Given the description of an element on the screen output the (x, y) to click on. 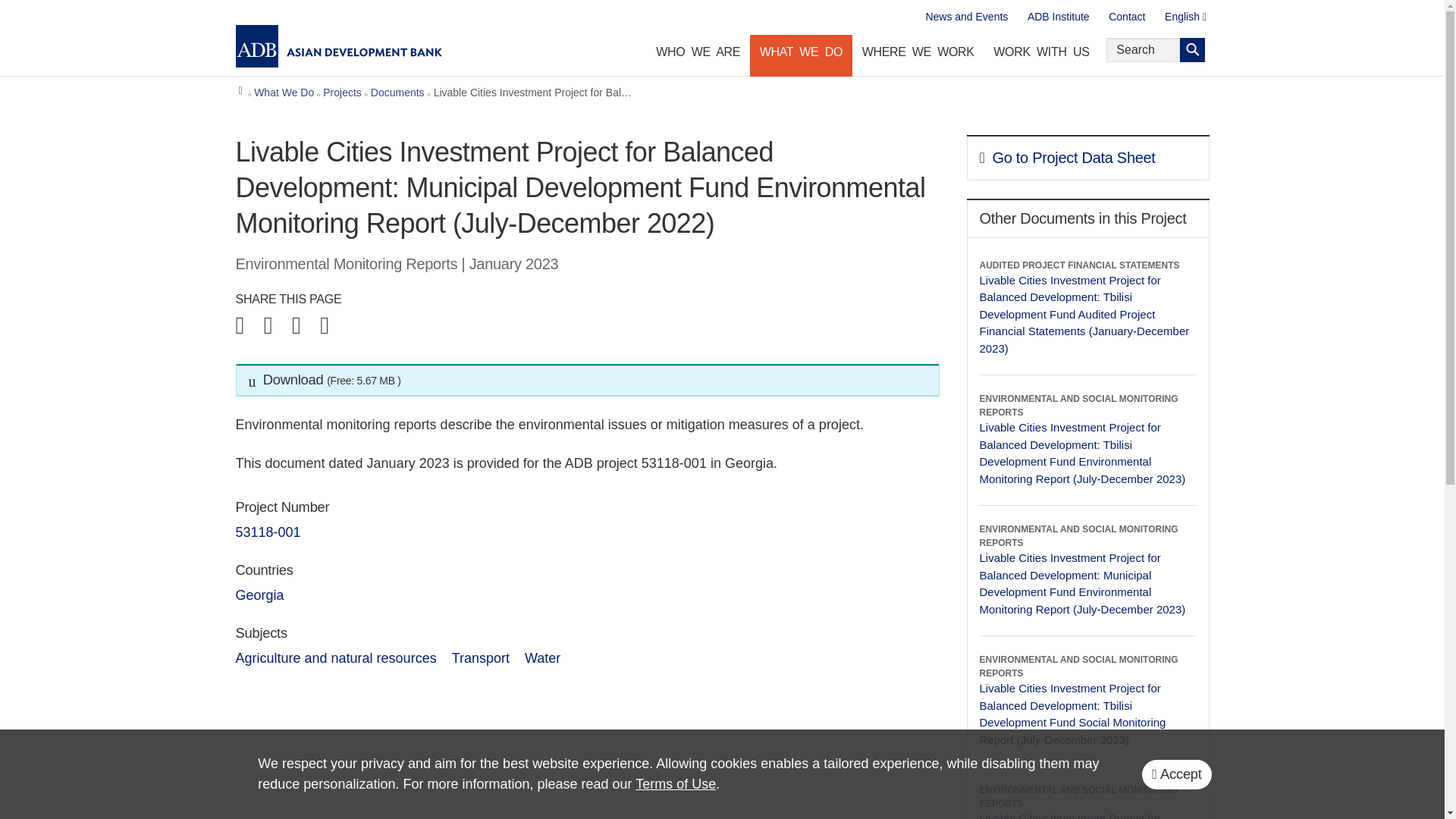
ADB Home (338, 46)
WORK  WITH  US (1041, 55)
WHO  WE  ARE (697, 55)
Home (241, 93)
ADB Institute (1058, 17)
Contact (1126, 17)
Search (1192, 49)
English   (1186, 17)
WHERE  WE  WORK (917, 55)
WHAT  WE  DO (800, 55)
News and Events (966, 17)
